Given the description of an element on the screen output the (x, y) to click on. 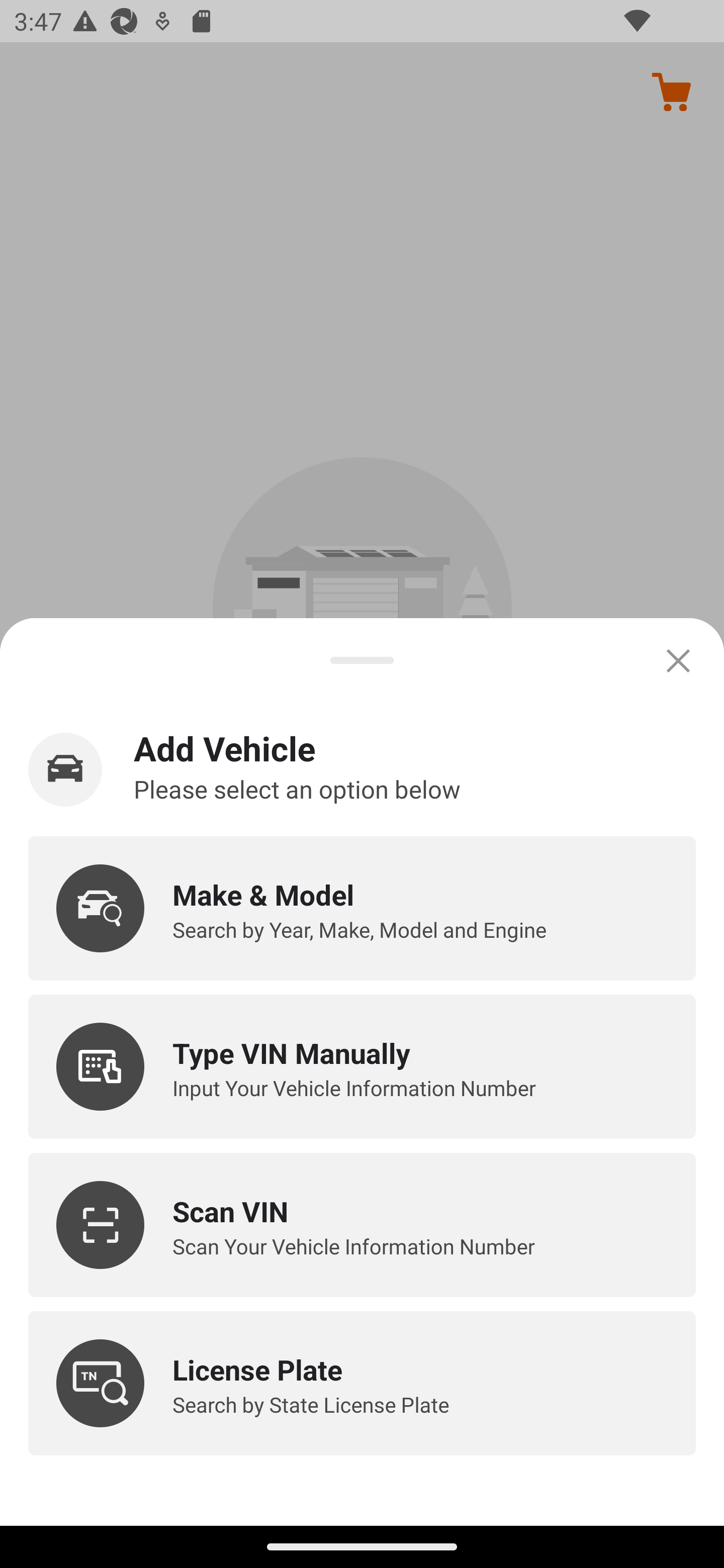
Close Modal  (677, 659)
